Given the description of an element on the screen output the (x, y) to click on. 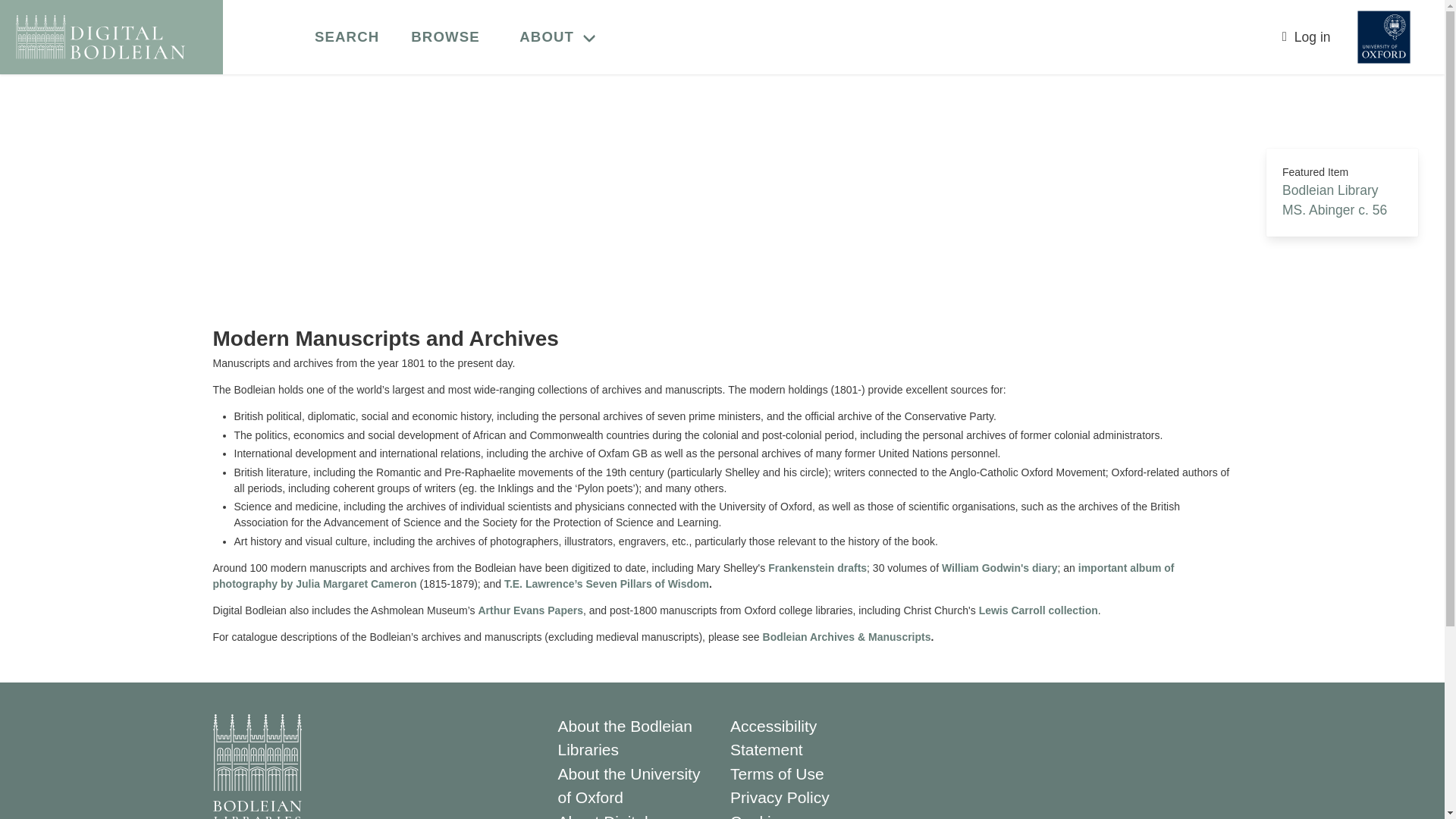
Bodleian Library MS. Abinger c. 56 (1334, 199)
Lewis Carroll collection (1037, 609)
Cookies (758, 816)
important album of photography by Julia Margaret Cameron (692, 574)
BROWSE (444, 37)
About the University of Oxford (628, 784)
Accessibility Statement (773, 738)
ABOUT (561, 36)
Terms of Use (777, 773)
SEARCH (346, 37)
